Given the description of an element on the screen output the (x, y) to click on. 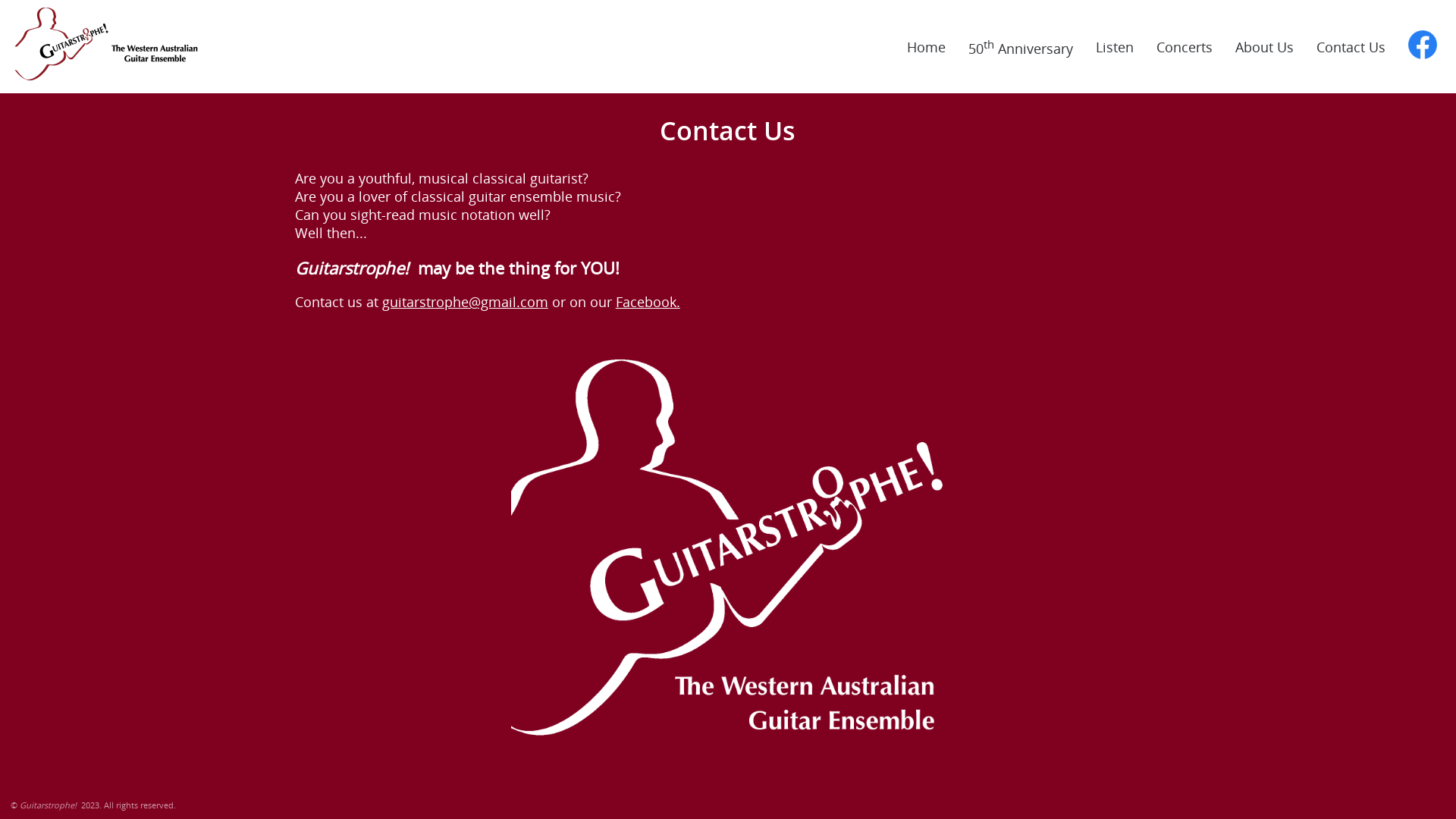
Facebook. Element type: text (647, 301)
Concerts Element type: text (1184, 46)
Contact Us Element type: text (1350, 46)
Listen Element type: text (1114, 46)
About Us Element type: text (1264, 46)
guitarstrophe@gmail.com Element type: text (465, 301)
50th Anniversary Element type: text (1020, 46)
Home Element type: text (926, 46)
